Given the description of an element on the screen output the (x, y) to click on. 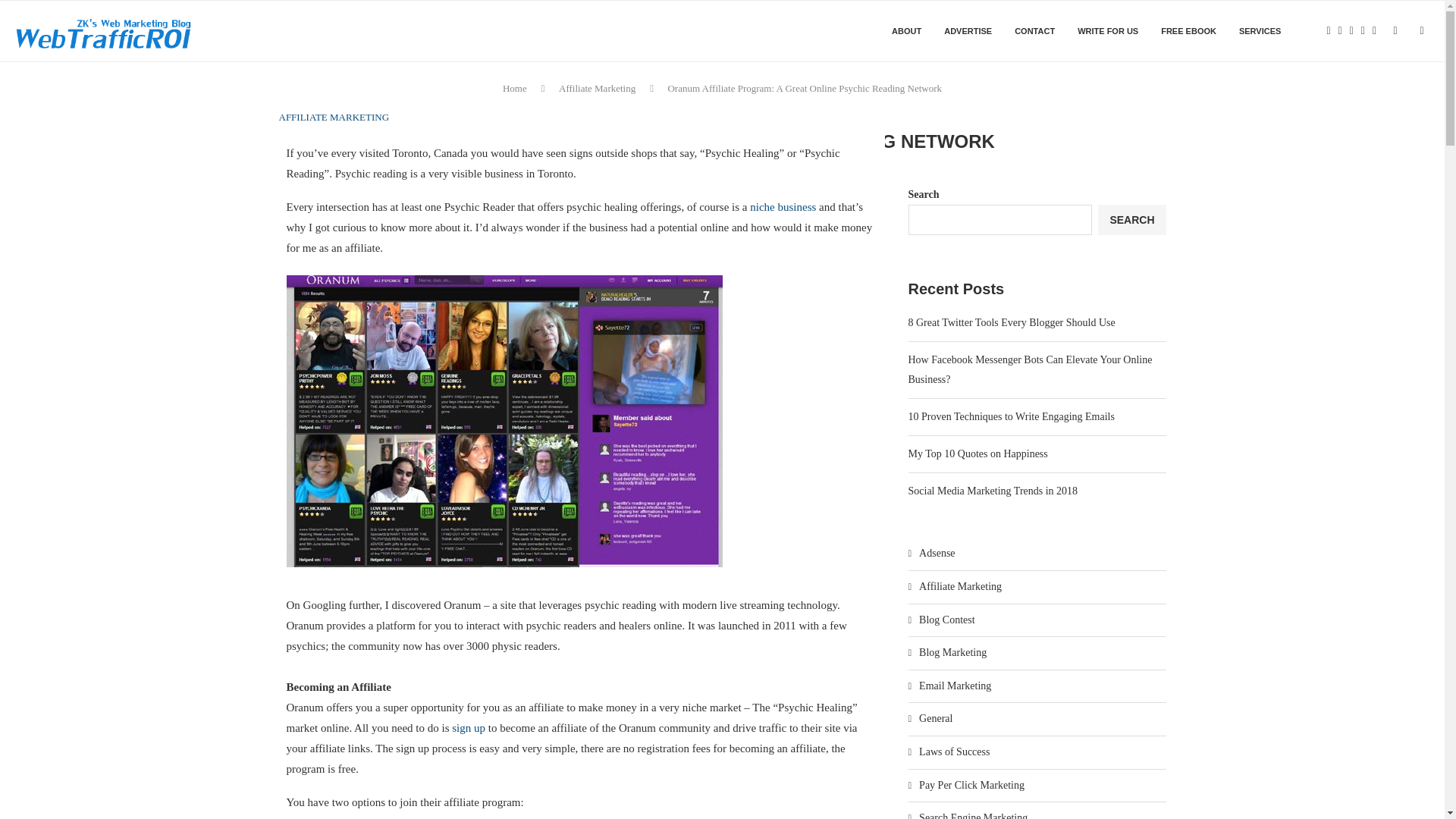
FREE EBOOK (1187, 30)
Affiliate Marketing (596, 88)
niche business (782, 206)
sign up (467, 727)
AFFILIATE MARKETING (334, 117)
WRITE FOR US (1107, 30)
Home (514, 88)
